Given the description of an element on the screen output the (x, y) to click on. 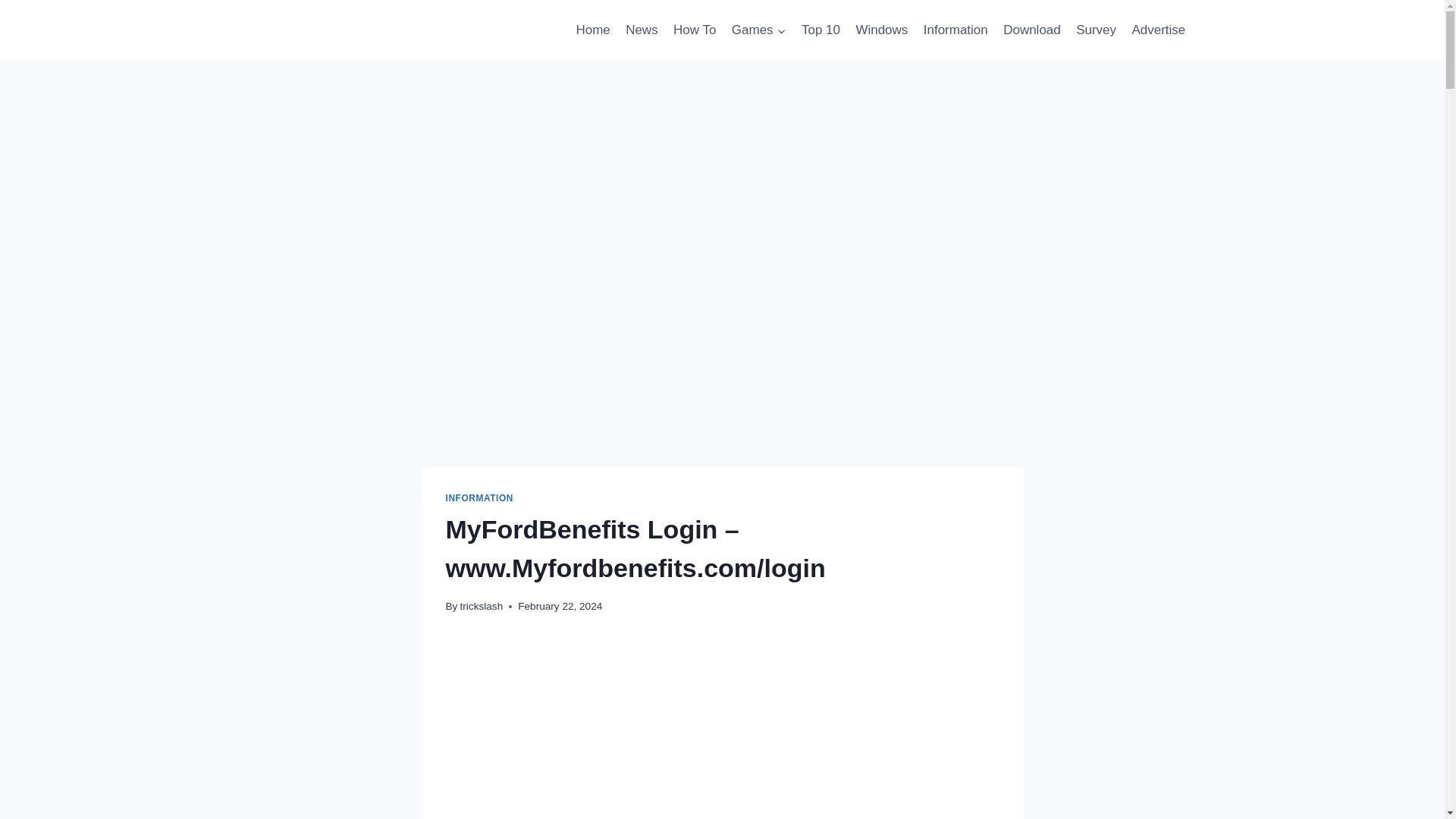
trickslash (481, 605)
Advertise (1158, 30)
How To (694, 30)
Survey (1096, 30)
Games (758, 30)
Download (1031, 30)
Home (592, 30)
Top 10 (820, 30)
Information (955, 30)
INFORMATION (479, 498)
